Given the description of an element on the screen output the (x, y) to click on. 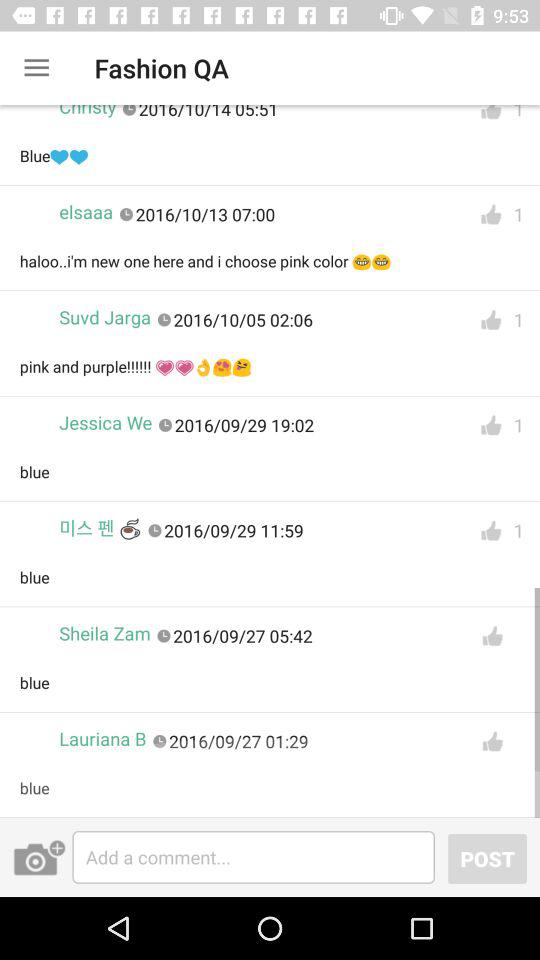
scroll to jessica we icon (105, 422)
